Given the description of an element on the screen output the (x, y) to click on. 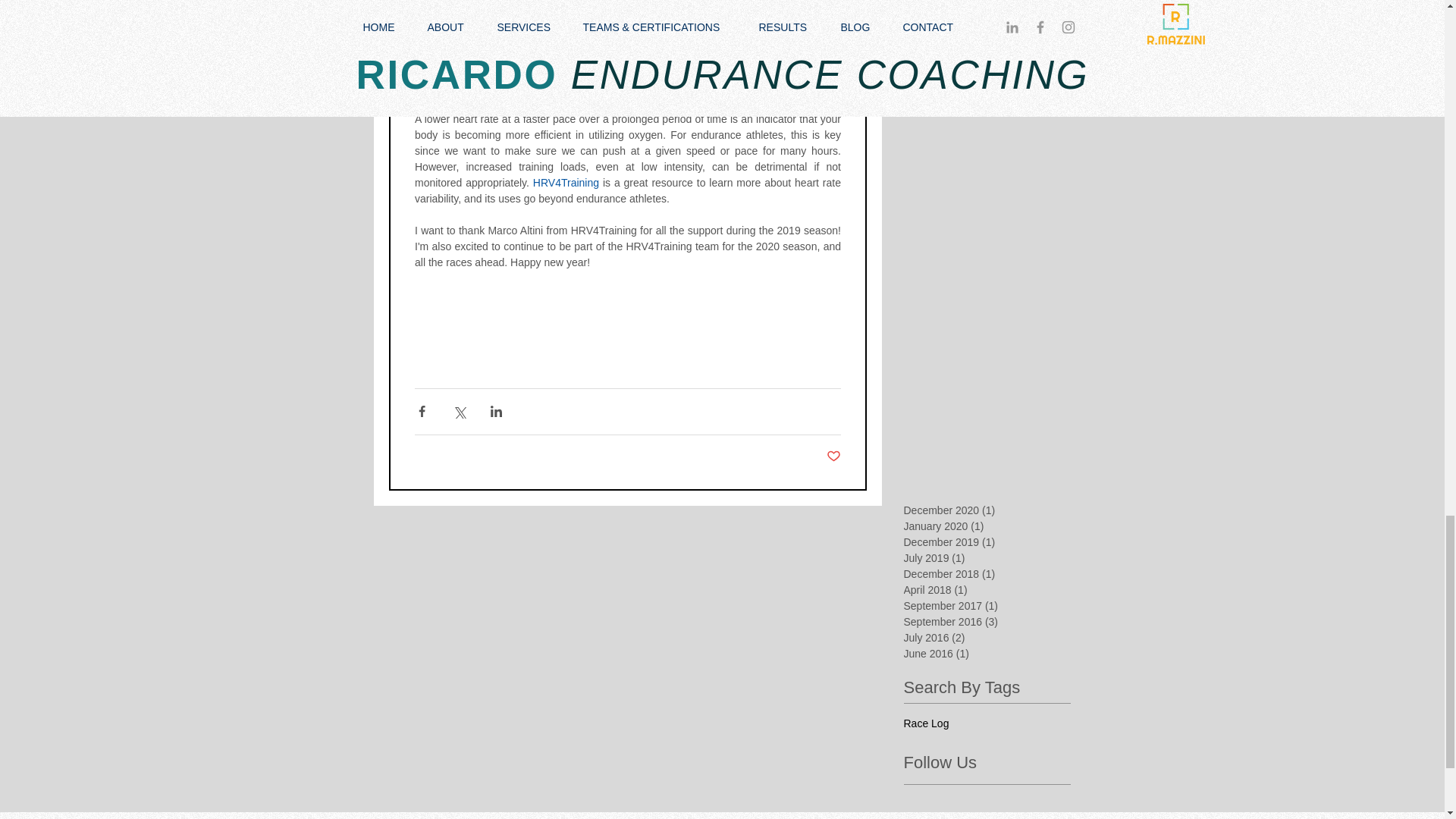
HRV4Training (565, 182)
Post not marked as liked (834, 456)
